Given the description of an element on the screen output the (x, y) to click on. 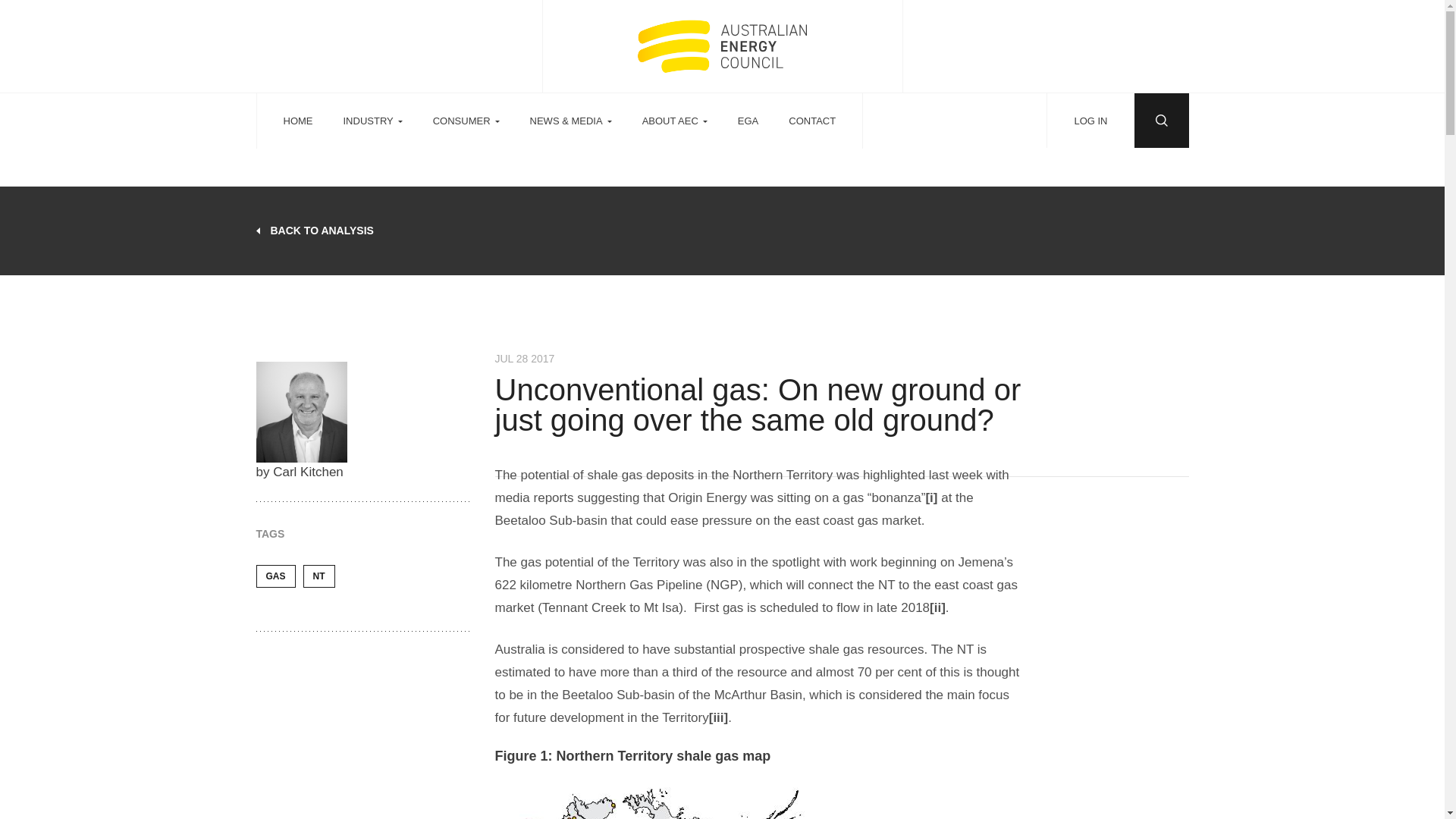
HOME (298, 120)
ABOUT AEC (674, 120)
CONSUMER (466, 120)
INDUSTRY (371, 120)
